Given the description of an element on the screen output the (x, y) to click on. 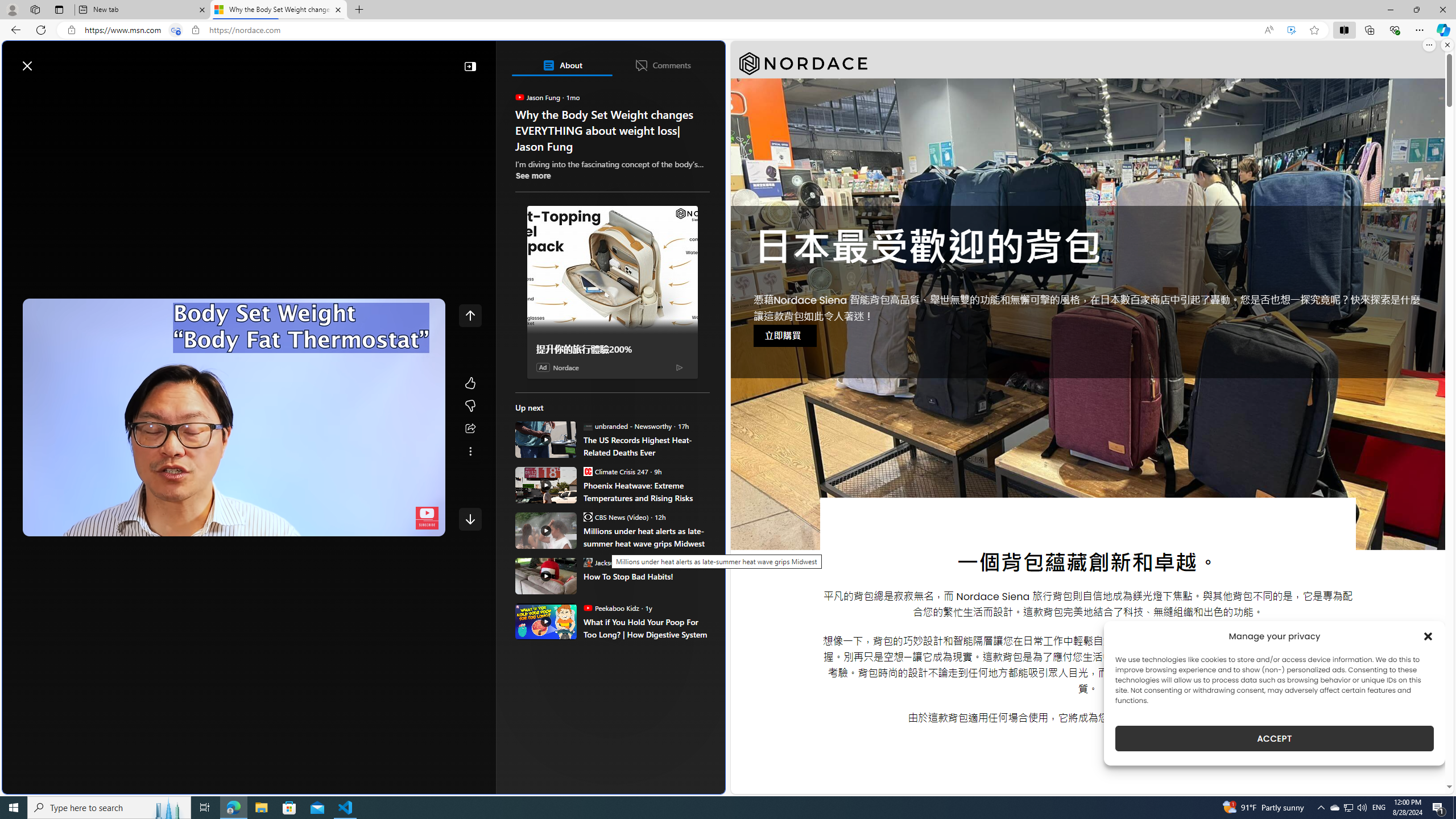
Workspaces (34, 9)
Jackson O'Doherty Jackson O'Doherty (616, 561)
Close split screen. (1447, 45)
CBS News (Video) CBS News (Video) (615, 516)
Watch (141, 92)
Peekaboo Kidz (587, 607)
How To Stop Bad Habits! (545, 575)
Peekaboo Kidz Peekaboo Kidz (610, 607)
CBS News (Video) (587, 516)
